Given the description of an element on the screen output the (x, y) to click on. 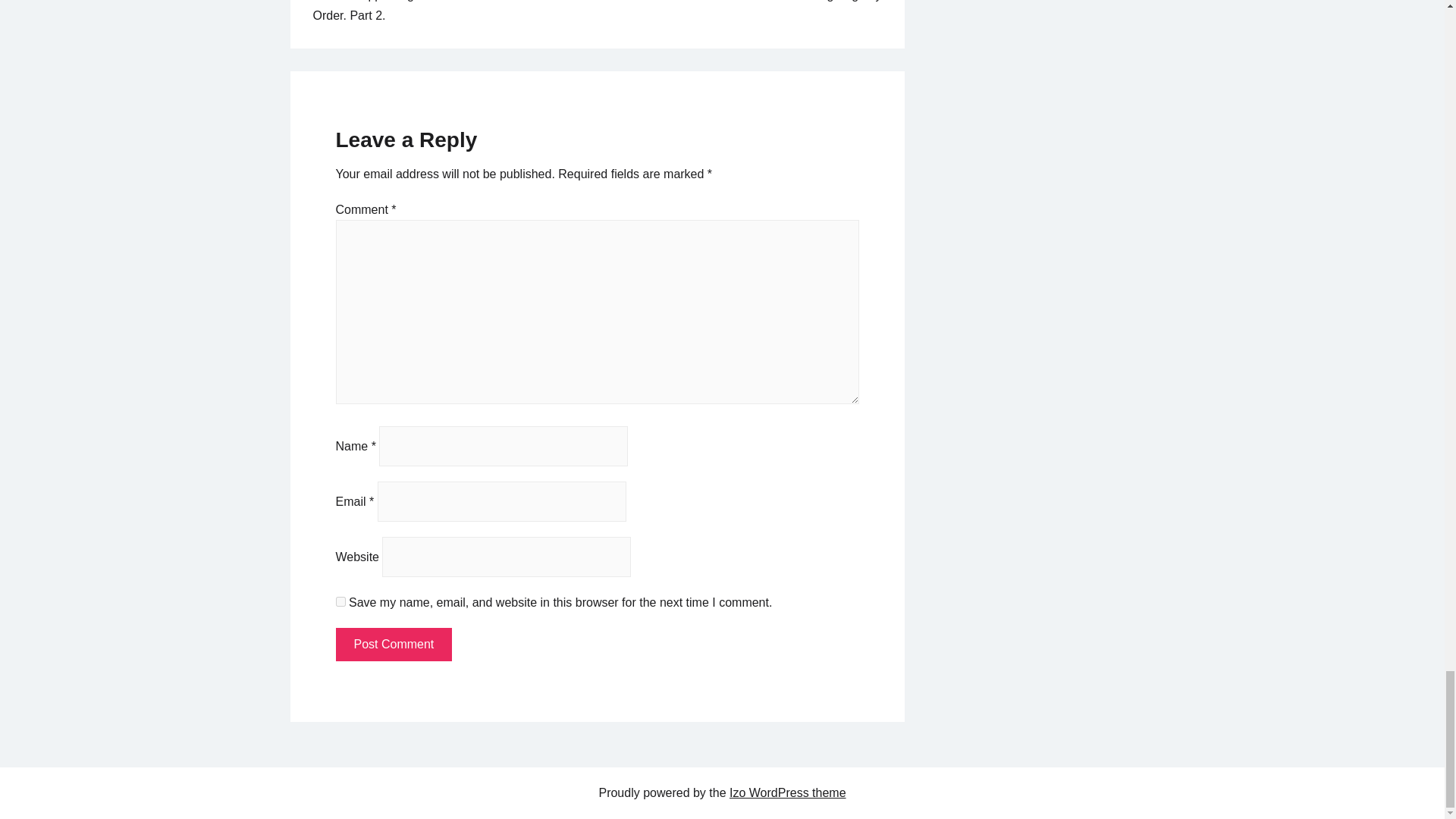
Post Comment (392, 644)
yes (339, 601)
Post Comment (392, 644)
